Given the description of an element on the screen output the (x, y) to click on. 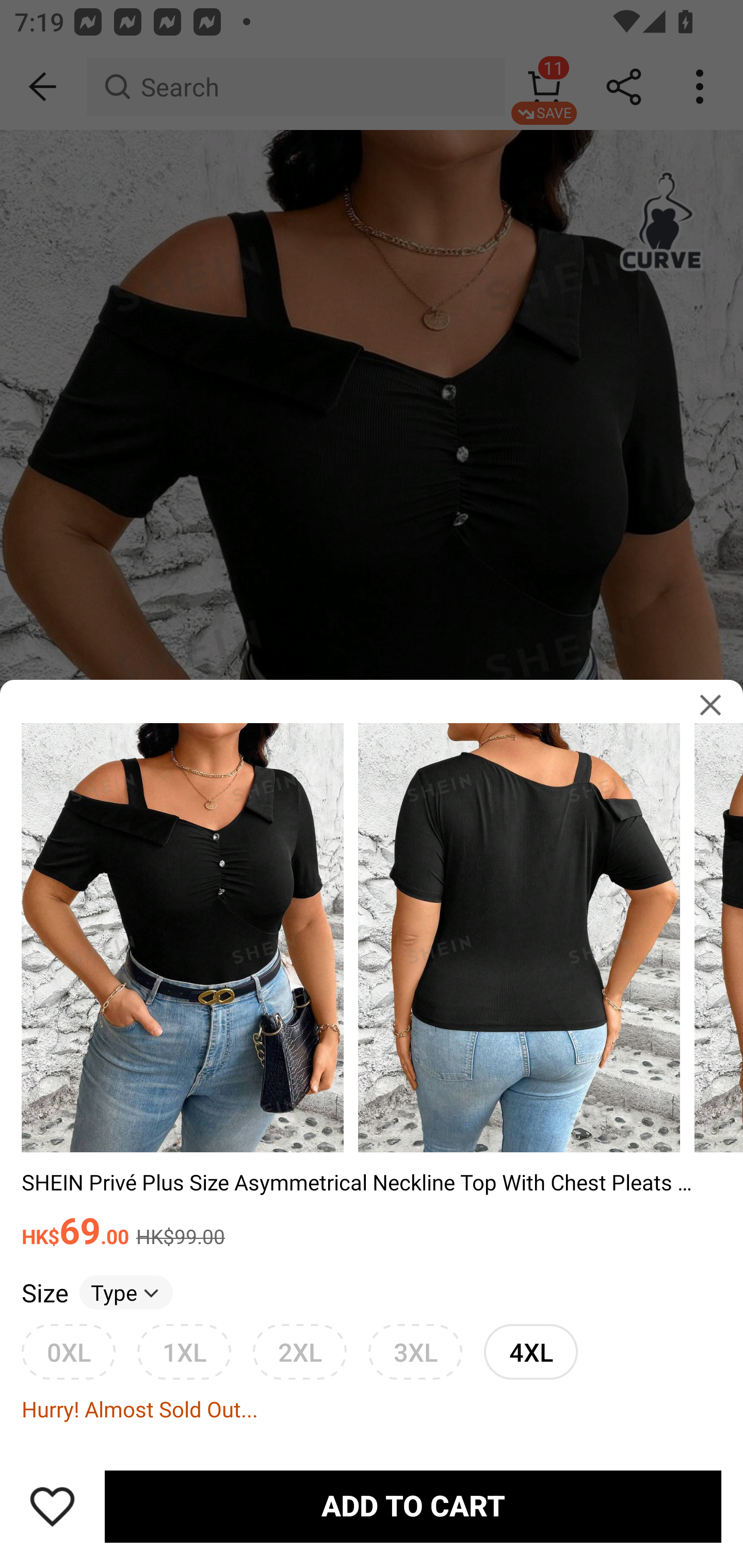
Size (44, 1291)
Type (126, 1291)
0XL (68, 1351)
1XL (184, 1351)
2XL (299, 1351)
3XL (415, 1351)
4XL unselected option (530, 1351)
Hurry! Almost Sold Out... (371, 1408)
ADD TO CART (412, 1506)
Save (52, 1505)
